Given the description of an element on the screen output the (x, y) to click on. 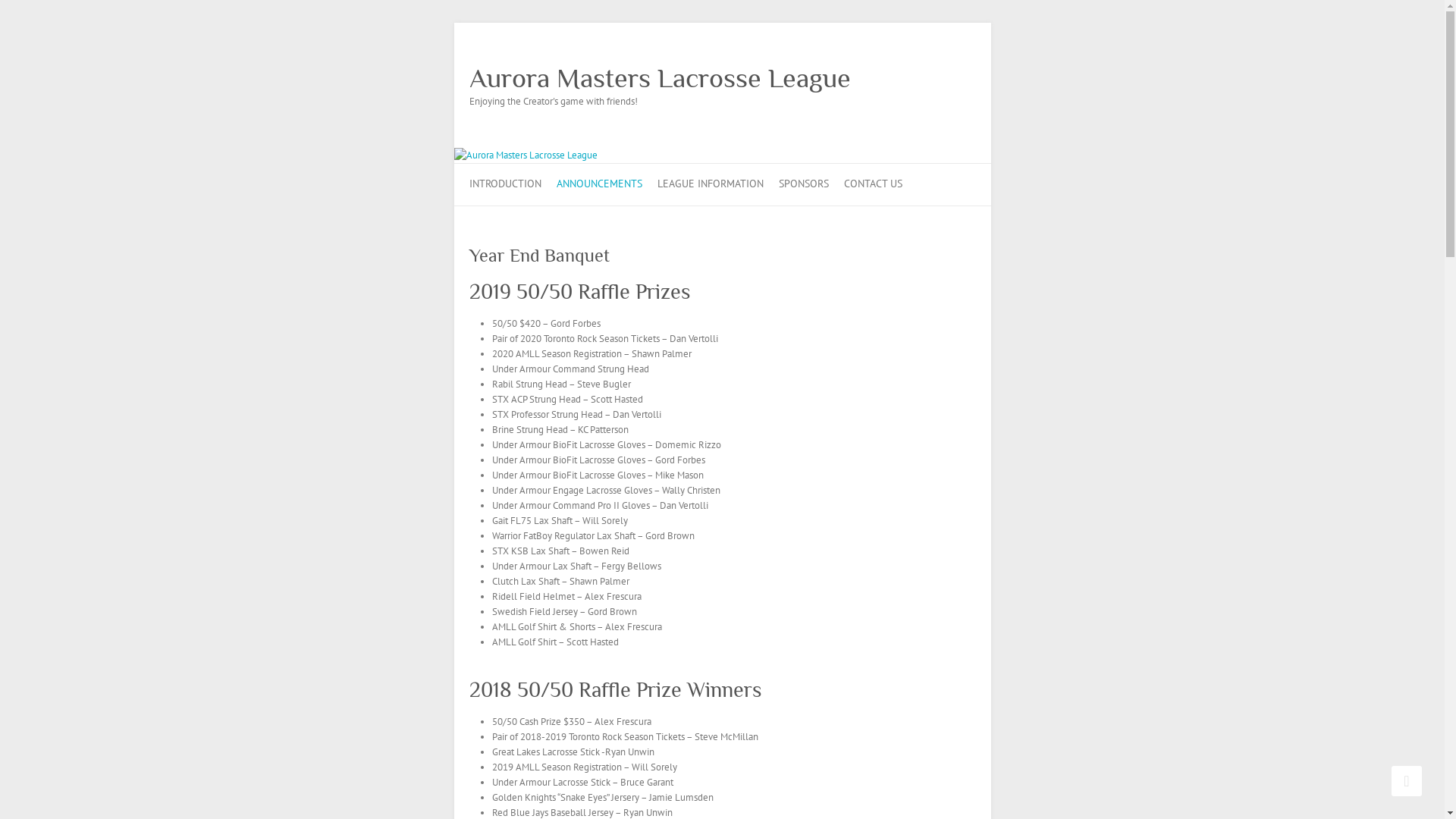
CONTACT US Element type: text (872, 184)
INTRODUCTION Element type: text (504, 184)
Aurora Masters Lacrosse League Element type: hover (524, 154)
SPONSORS Element type: text (803, 184)
Aurora Masters Lacrosse League Element type: text (659, 78)
LEAGUE INFORMATION Element type: text (709, 184)
ANNOUNCEMENTS Element type: text (599, 184)
